Given the description of an element on the screen output the (x, y) to click on. 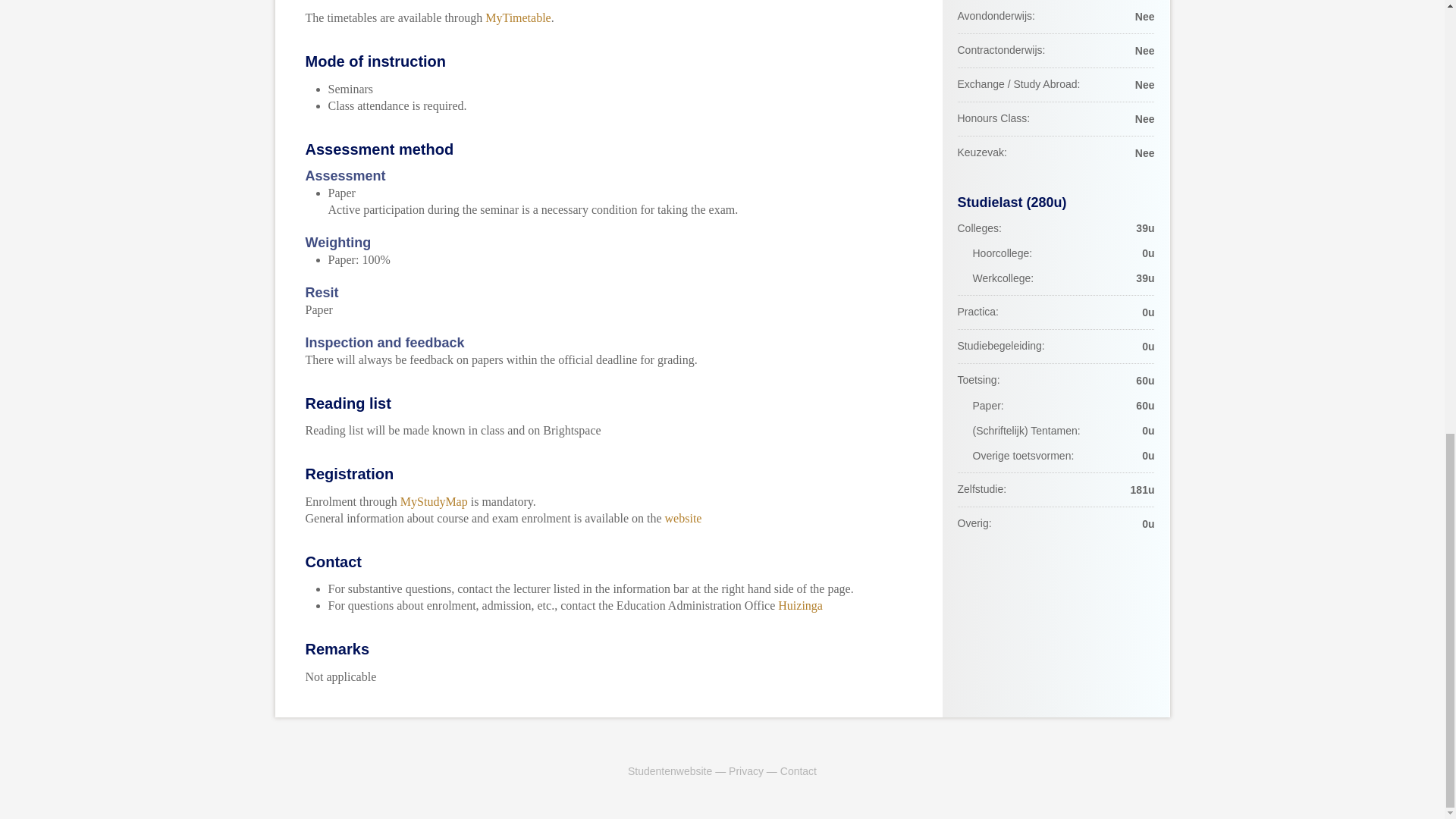
MyStudyMap (433, 501)
Contact (798, 770)
Privacy (745, 770)
website (683, 517)
Studentenwebsite (669, 770)
Huizinga (799, 604)
MyTimetable (517, 17)
